Given the description of an element on the screen output the (x, y) to click on. 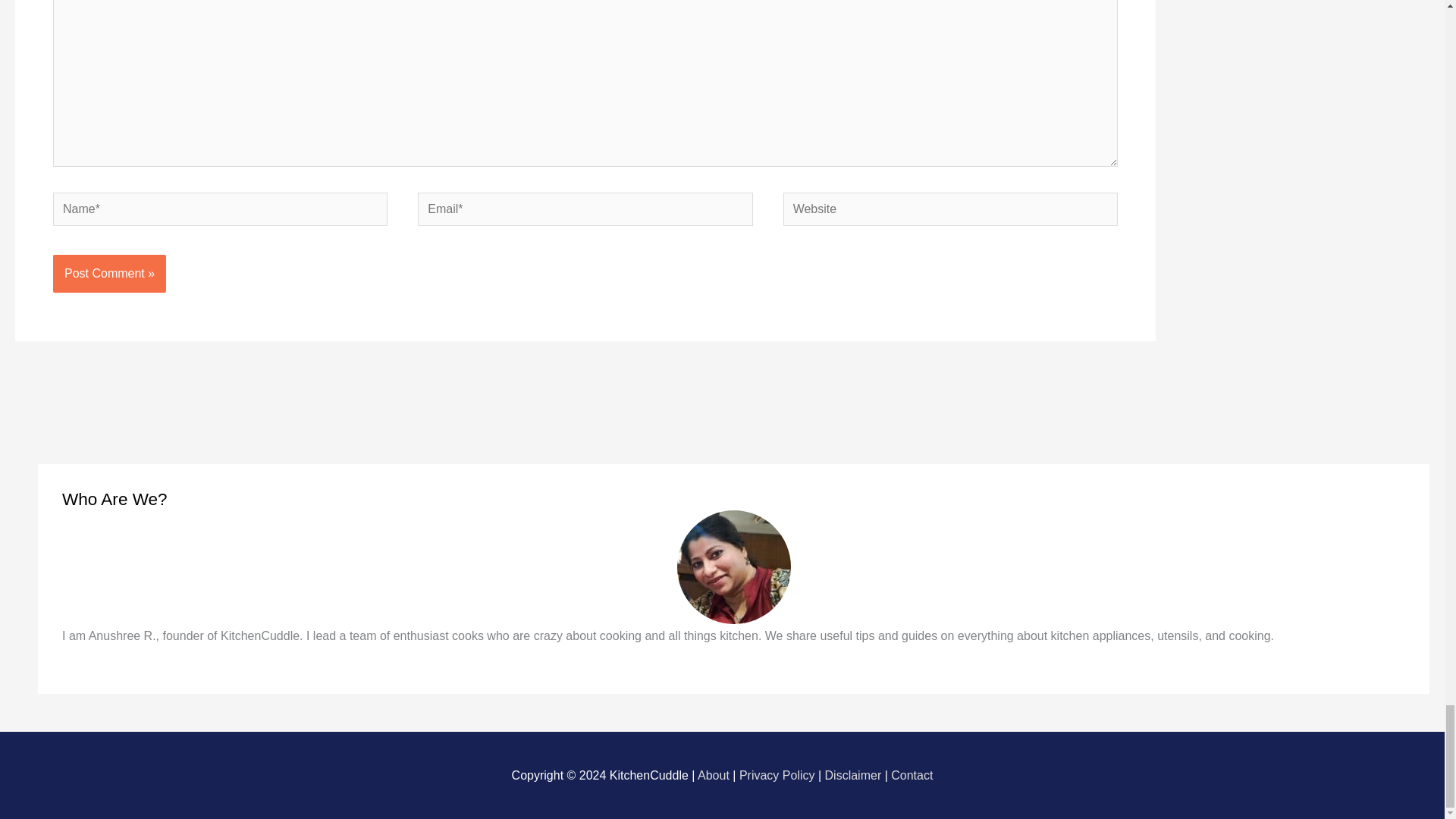
About (713, 775)
Contact (912, 775)
Privacy Policy (777, 775)
Disclaimer (853, 775)
